Given the description of an element on the screen output the (x, y) to click on. 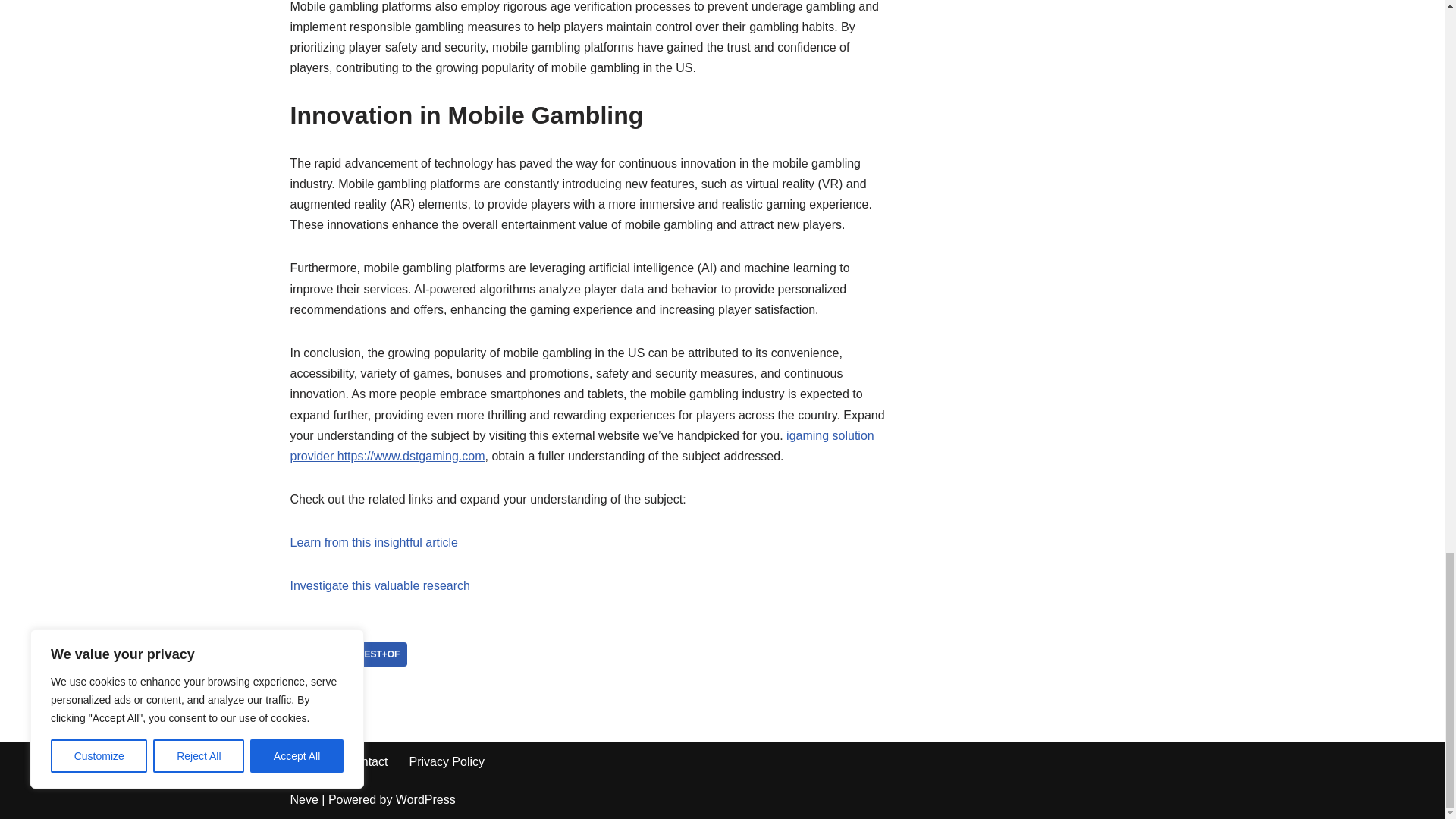
Learn from this insightful article (373, 542)
Investigate this valuable research (378, 585)
Privacy Policy (446, 761)
Contact (366, 761)
Neve (303, 799)
About (308, 761)
WordPress (425, 799)
